Given the description of an element on the screen output the (x, y) to click on. 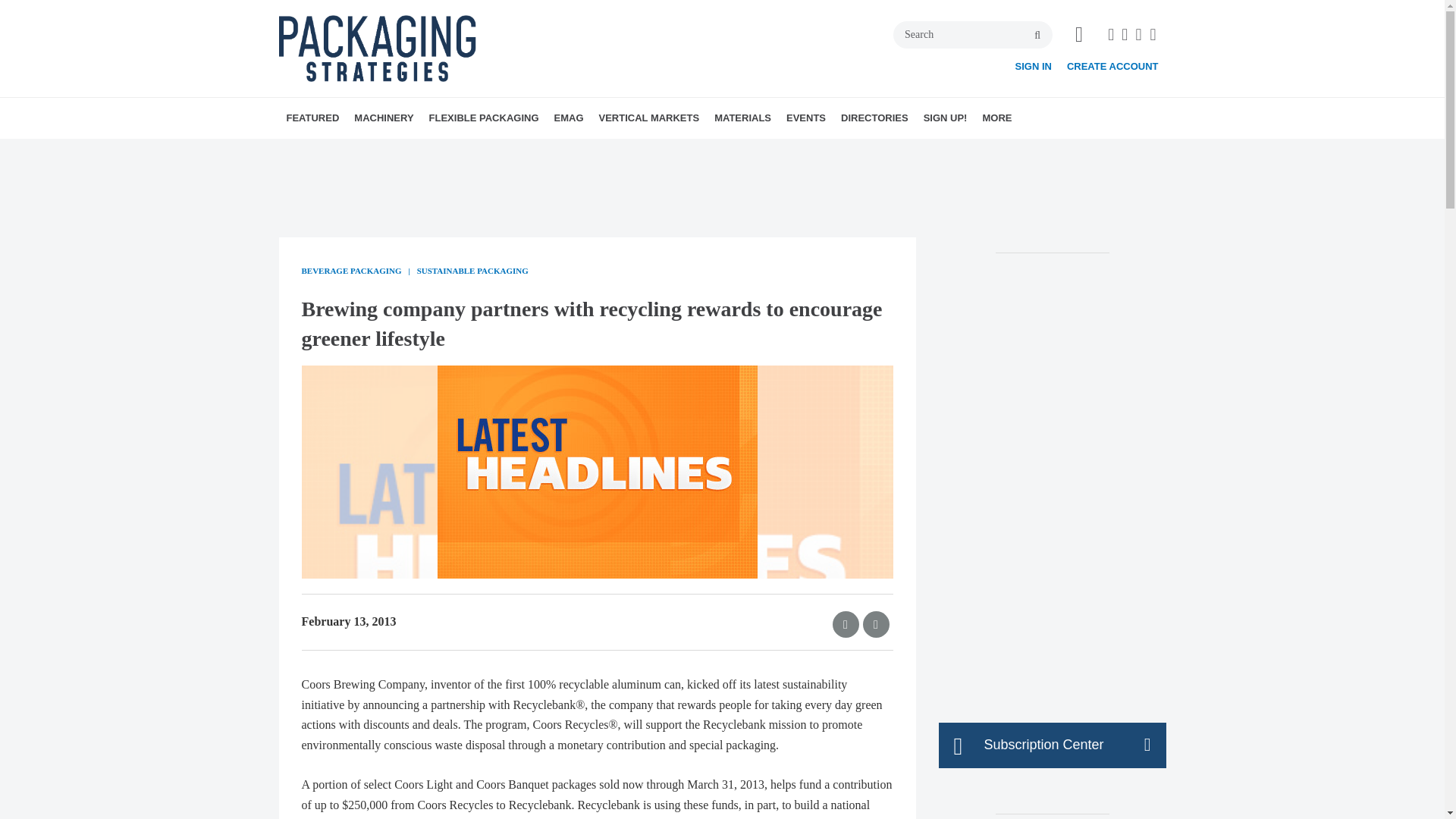
NEW PACKAGES (395, 150)
ROBOTICS (488, 150)
PACKAGING PERSPECTIVES PODCASTS (373, 159)
SUPPLY SIDE (405, 150)
CONVEYORS (471, 150)
Search (972, 34)
BRAND PACKAGING (384, 150)
Search (972, 34)
SIGN IN (1032, 66)
MACHINERY (383, 117)
LABELING (484, 150)
FLEXIBLE PACKAGING (484, 117)
CARTONING (458, 150)
EMAG (568, 117)
FEATURED (313, 117)
